Given the description of an element on the screen output the (x, y) to click on. 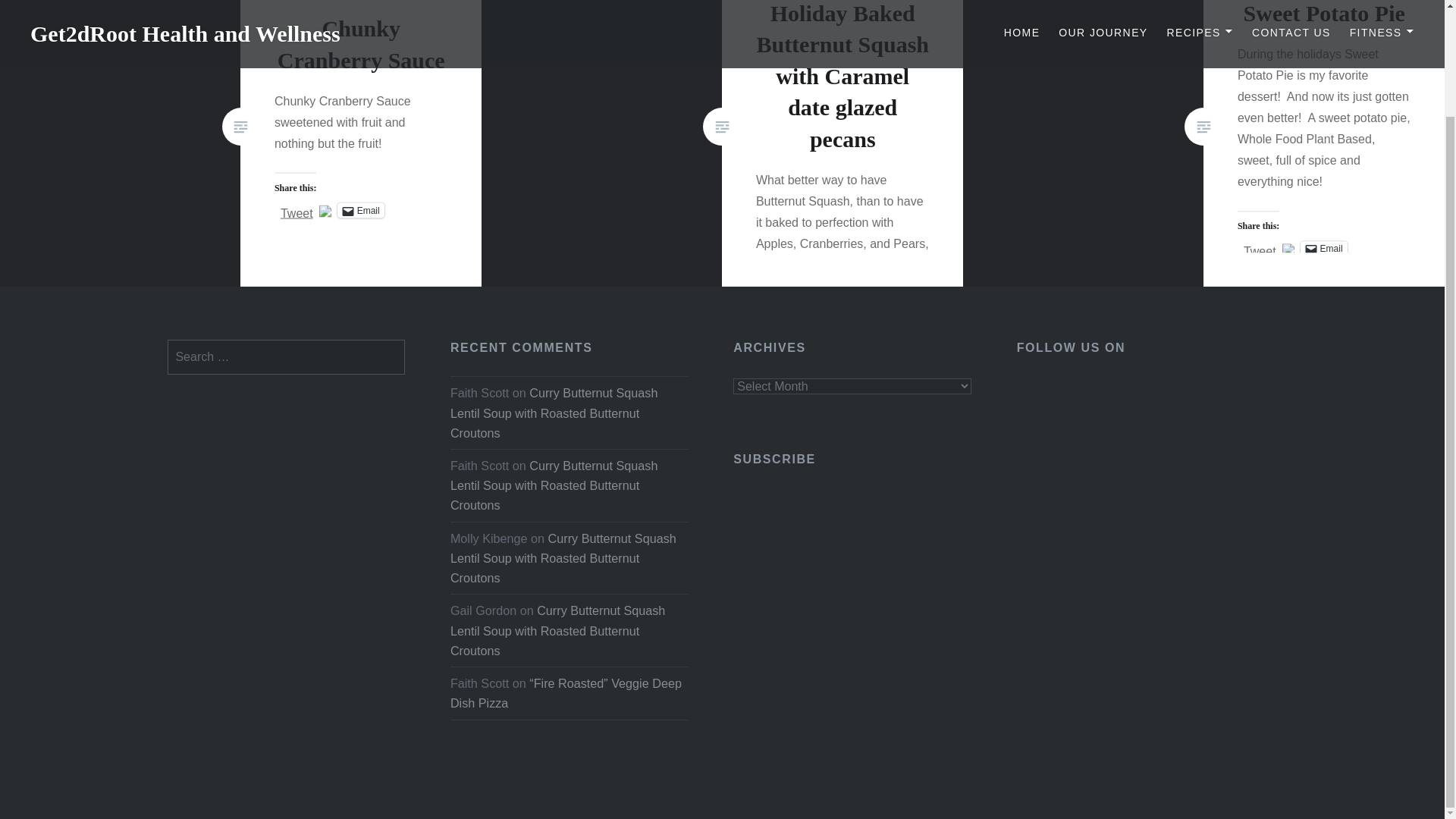
Email (360, 209)
Chunky Cranberry Sauce (361, 43)
Click to email a link to a friend (360, 209)
Tweet (297, 209)
Tweet (1259, 247)
Email (1324, 248)
